Given the description of an element on the screen output the (x, y) to click on. 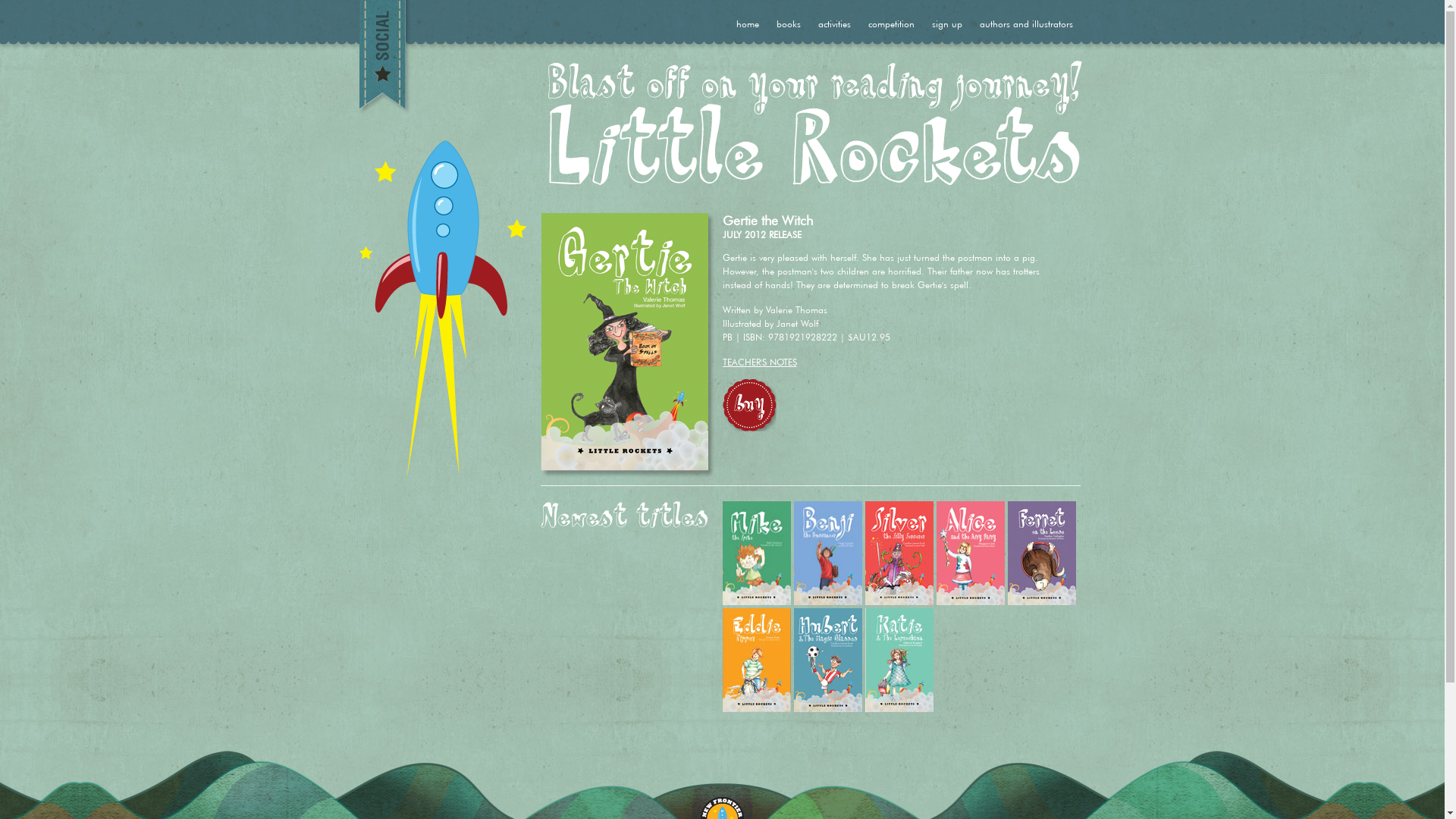
sign up Element type: text (946, 22)
competition Element type: text (890, 22)
books Element type: text (788, 22)
TEACHER'S NOTES Element type: text (758, 360)
authors and illustrators Element type: text (1026, 22)
home Element type: text (746, 22)
activities Element type: text (833, 22)
